Given the description of an element on the screen output the (x, y) to click on. 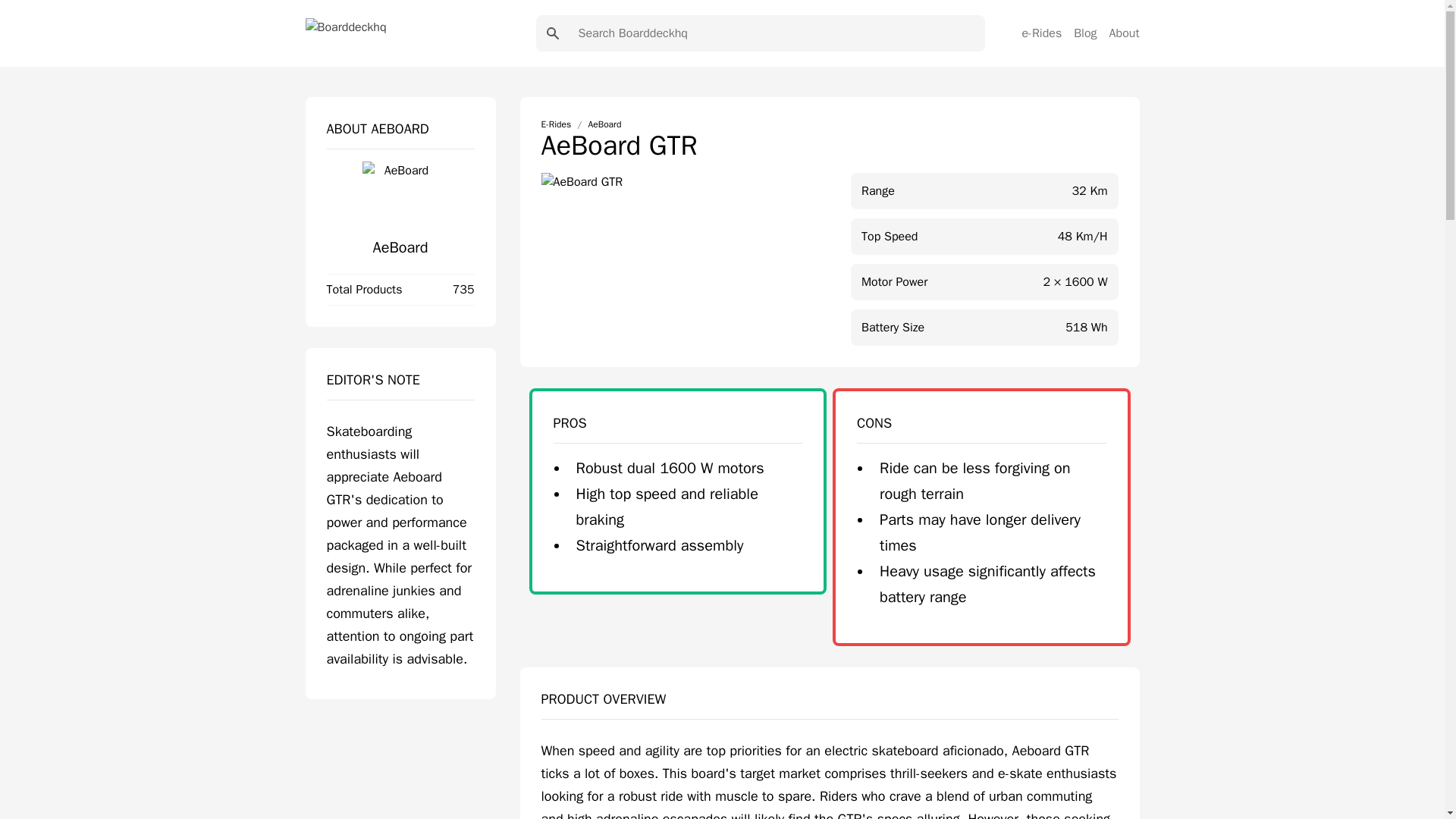
e-Rides (1041, 32)
About (1124, 32)
Blog (1085, 33)
E-Rides (556, 123)
AeBoard (604, 123)
Search Submit  (552, 33)
AeBoard (400, 247)
